Given the description of an element on the screen output the (x, y) to click on. 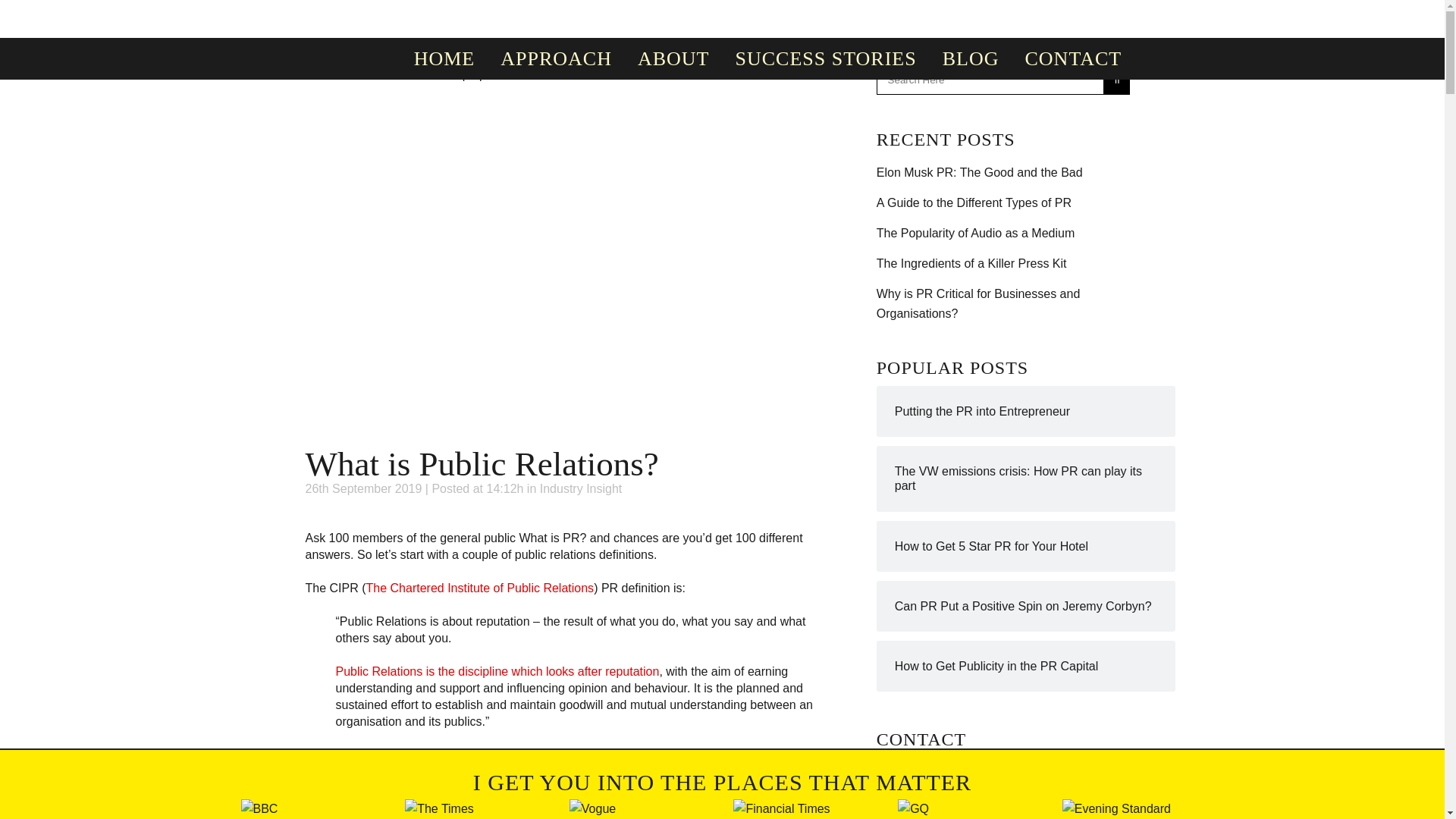
ABOUT (673, 58)
Industry Insight (581, 488)
CONTACT (1072, 58)
BLOG (970, 58)
APPROACH (555, 58)
SUCCESS STORIES (825, 58)
HOME (444, 58)
The Chartered Institute of Public Relations (480, 586)
definition of public relations (432, 753)
